Given the description of an element on the screen output the (x, y) to click on. 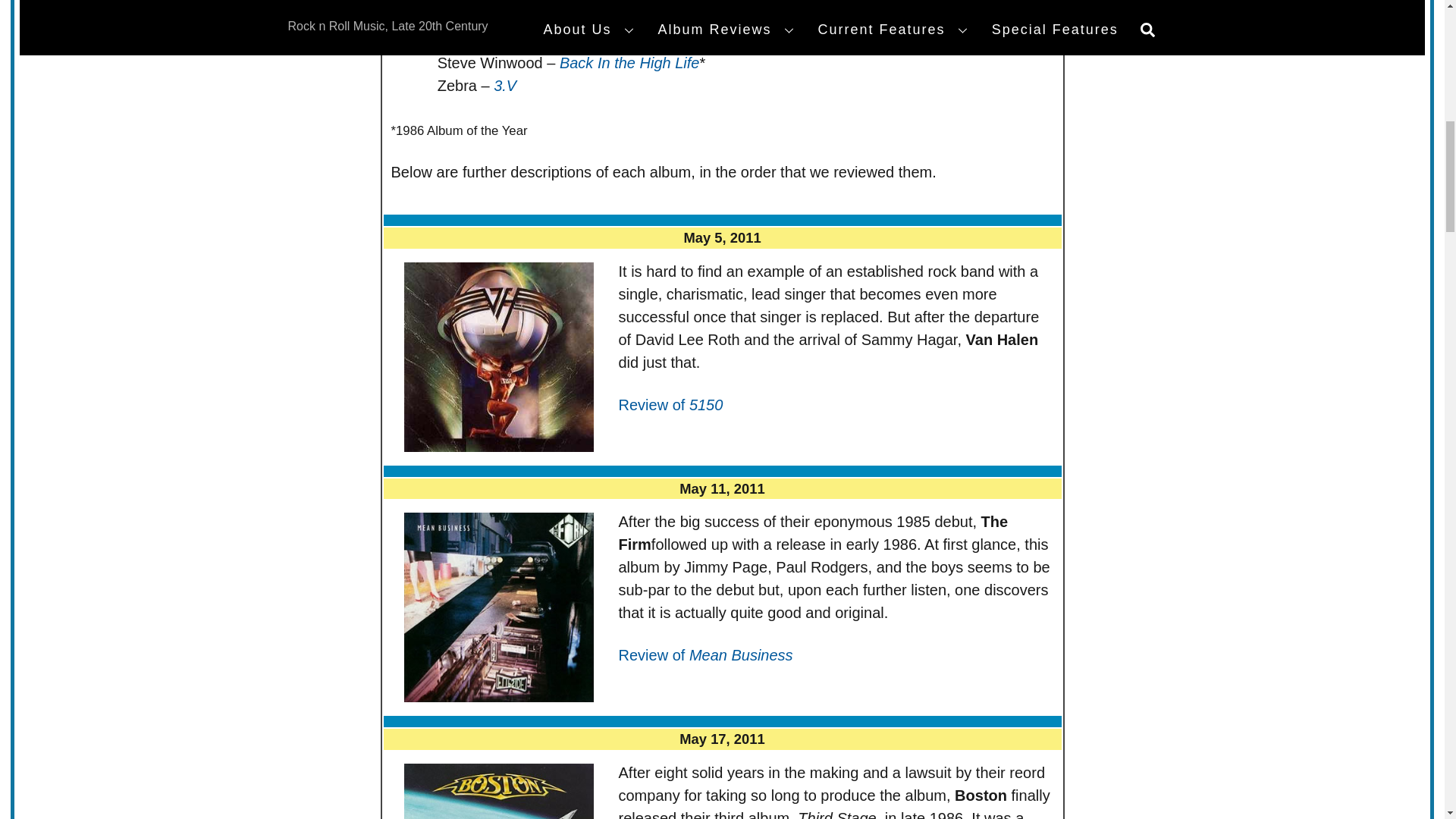
Back In the High Life (629, 62)
Review of 5150 (670, 404)
Graceland (566, 1)
Review of Mean Business (705, 655)
5150 (540, 39)
Mechanical Resonance (568, 17)
3.V (504, 85)
